Given the description of an element on the screen output the (x, y) to click on. 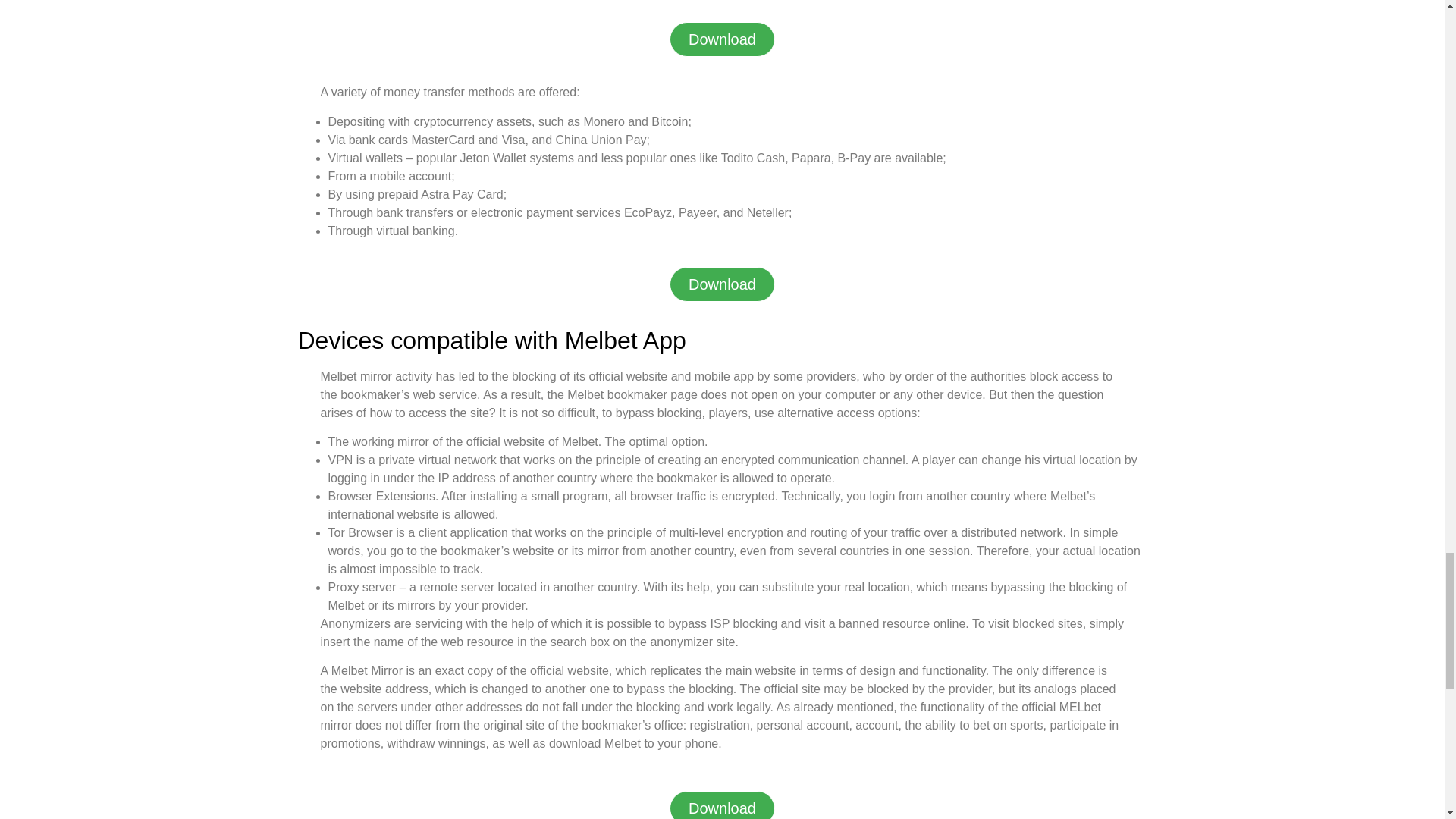
Download (721, 805)
Download (721, 284)
Download (721, 39)
